Given the description of an element on the screen output the (x, y) to click on. 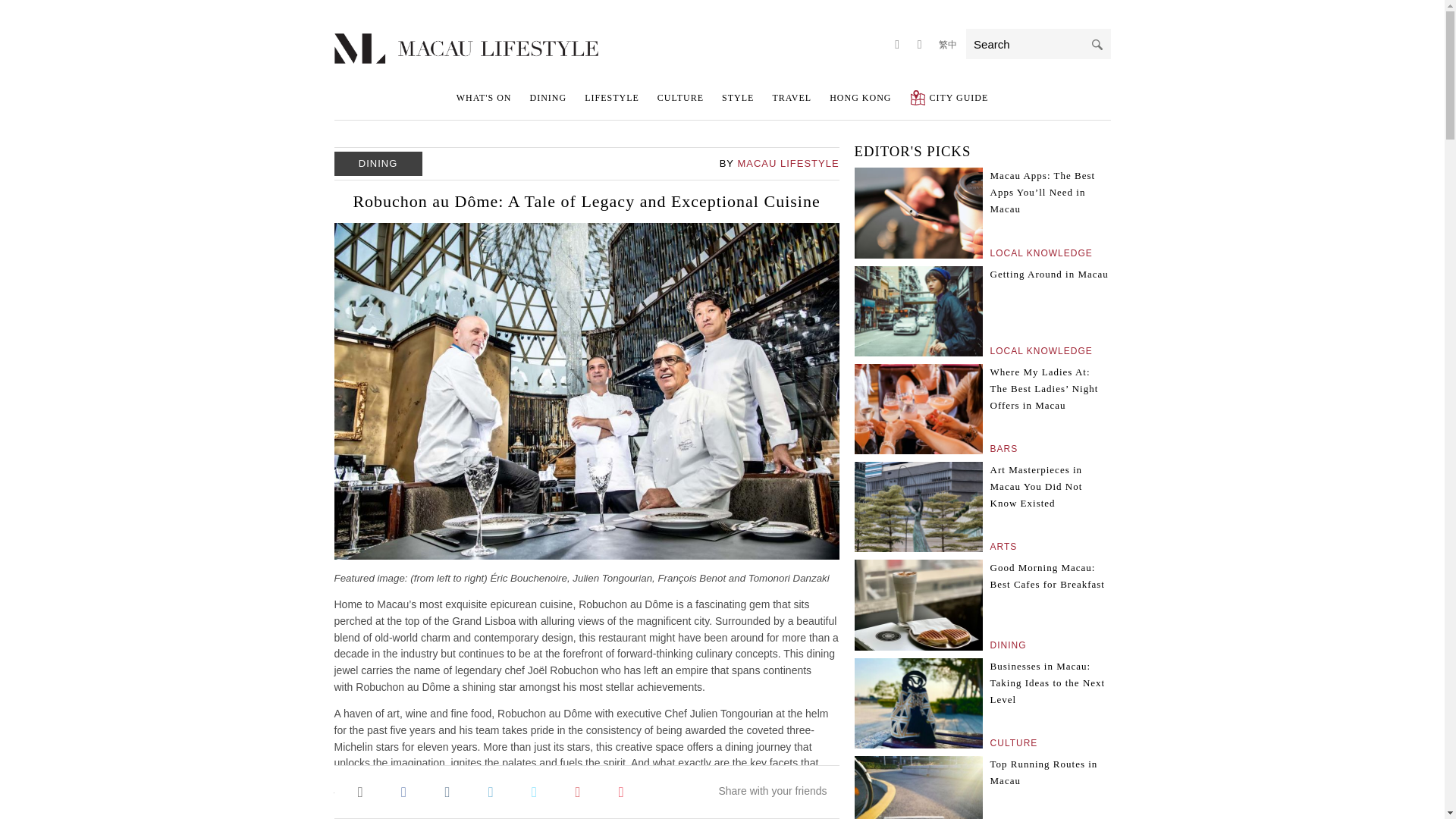
Linked In (489, 790)
Tumblr (446, 790)
E-Mail (360, 790)
WHAT'S ON (483, 97)
CULTURE (680, 97)
DINING (547, 97)
LIFESTYLE (611, 97)
STYLE (737, 97)
Weibo (620, 790)
Pinterest (577, 790)
Twitter (533, 790)
Facebook (403, 790)
